Given the description of an element on the screen output the (x, y) to click on. 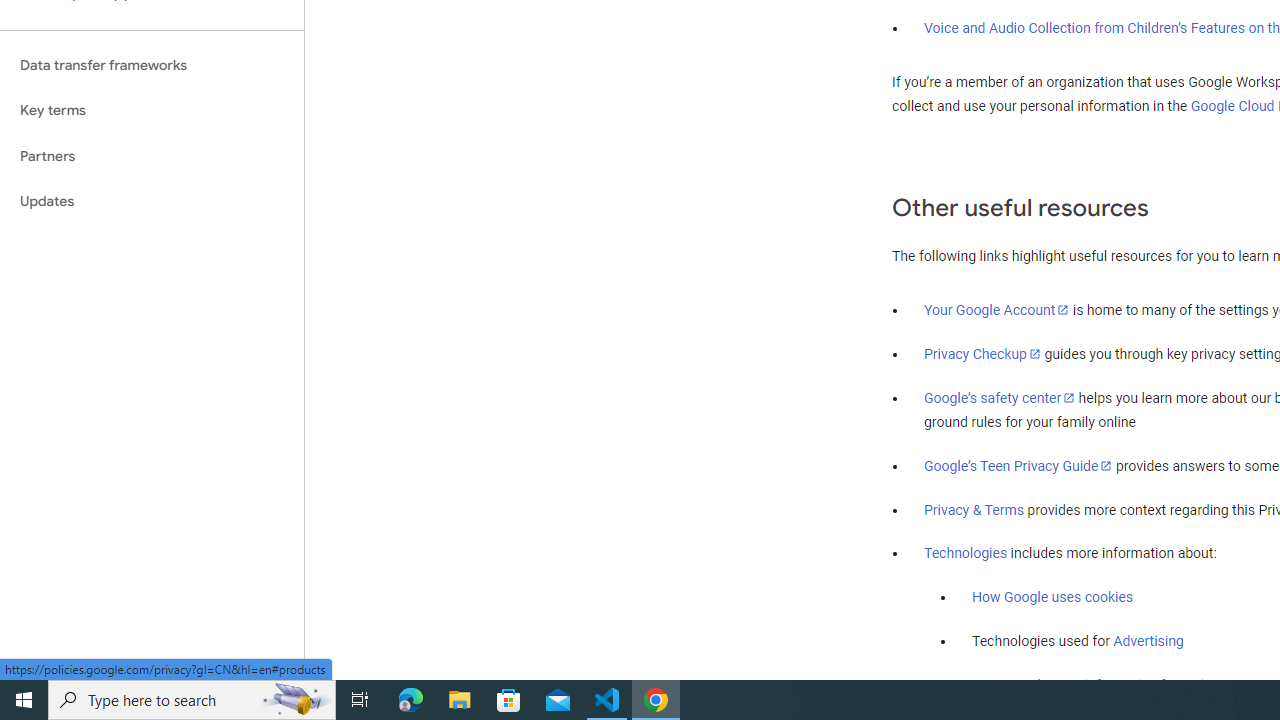
Your Google Account (997, 309)
Technologies (966, 554)
Key terms (152, 110)
Partners (152, 156)
Privacy Checkup (982, 353)
Advertising (1148, 641)
Data transfer frameworks (152, 65)
Updates (152, 201)
Privacy & Terms (974, 510)
How Google uses cookies (1052, 597)
